Given the description of an element on the screen output the (x, y) to click on. 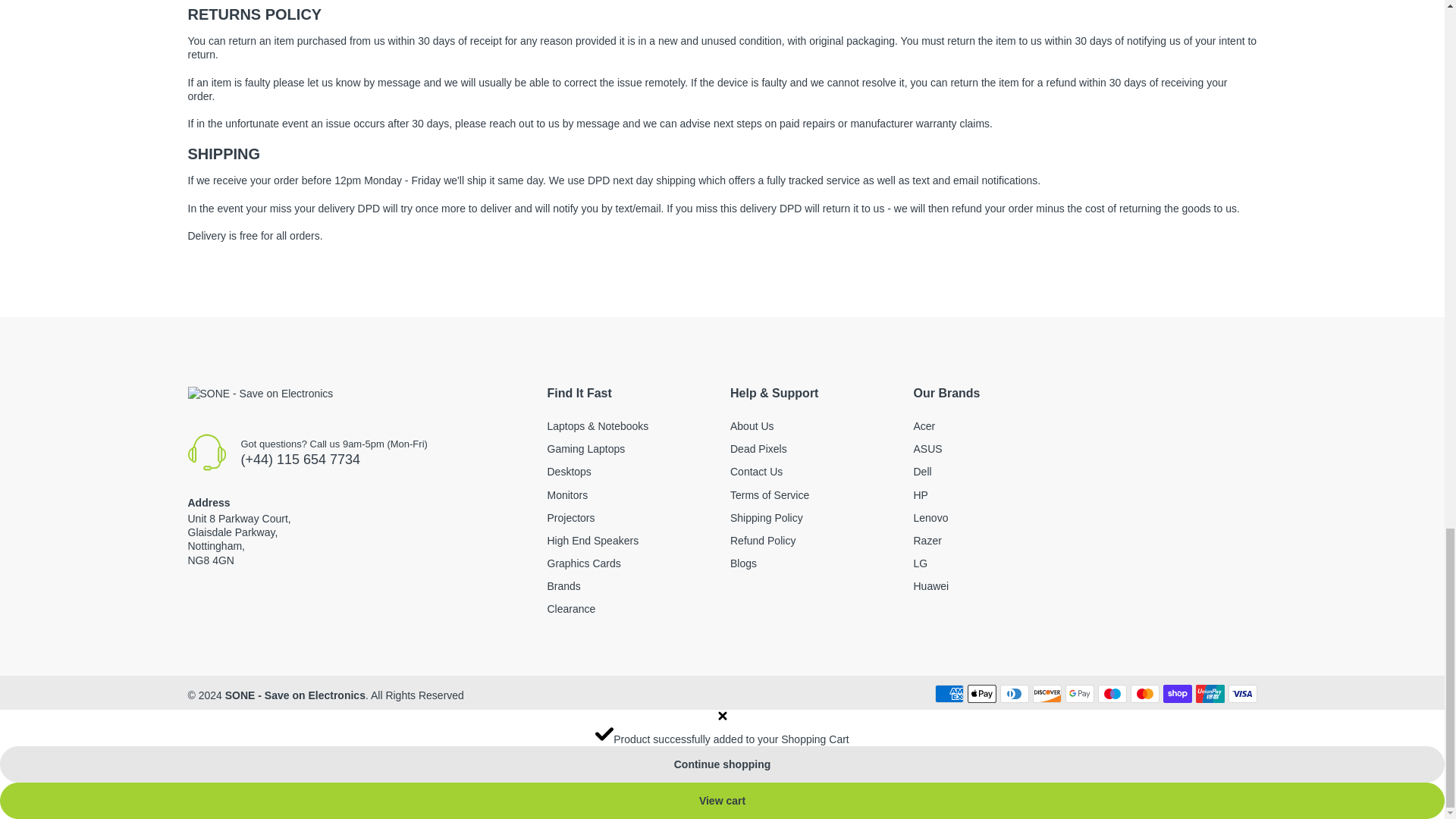
Gaming Laptops (586, 449)
Brands (563, 585)
Graphics Cards (584, 563)
Projectors (571, 517)
Monitors (567, 494)
Desktops (569, 471)
High End Speakers (593, 540)
